Given the description of an element on the screen output the (x, y) to click on. 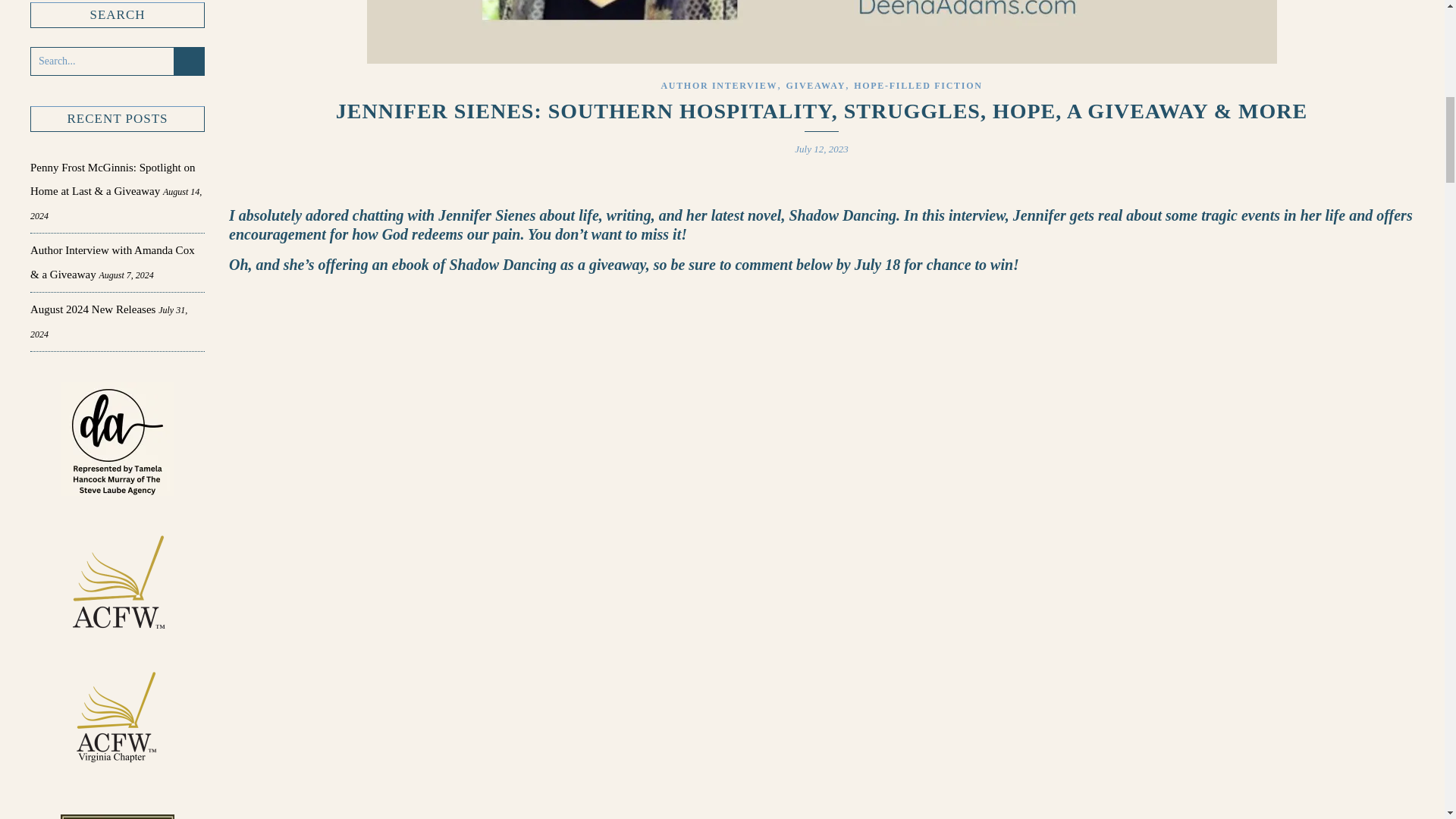
GIVEAWAY (815, 85)
August 2024 New Releases (92, 309)
HOPE-FILLED FICTION (917, 85)
AUTHOR INTERVIEW (719, 85)
st (189, 61)
